Given the description of an element on the screen output the (x, y) to click on. 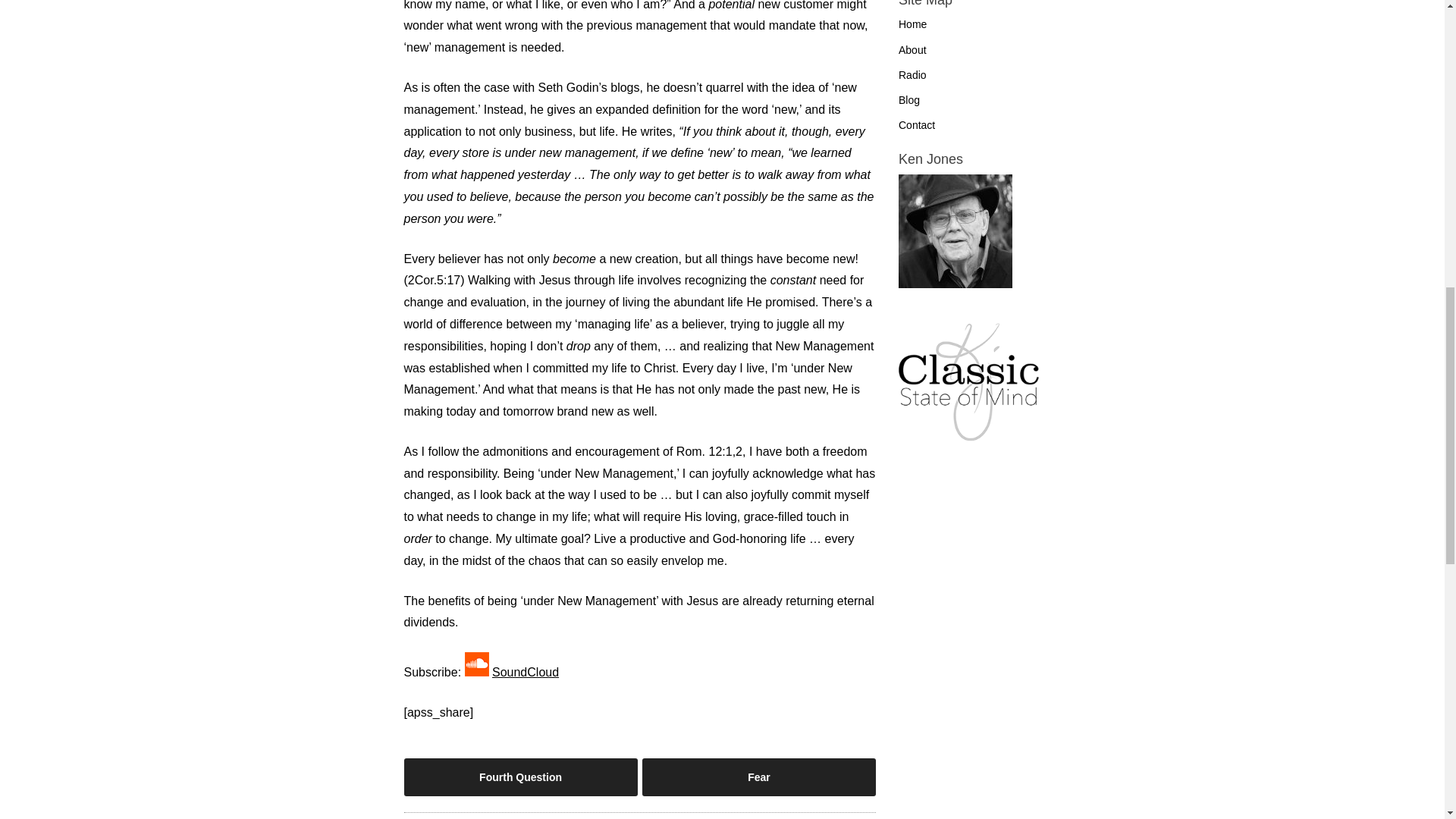
Radio (912, 74)
Contact (916, 124)
Home (912, 24)
Blog (909, 100)
About (912, 50)
